Given the description of an element on the screen output the (x, y) to click on. 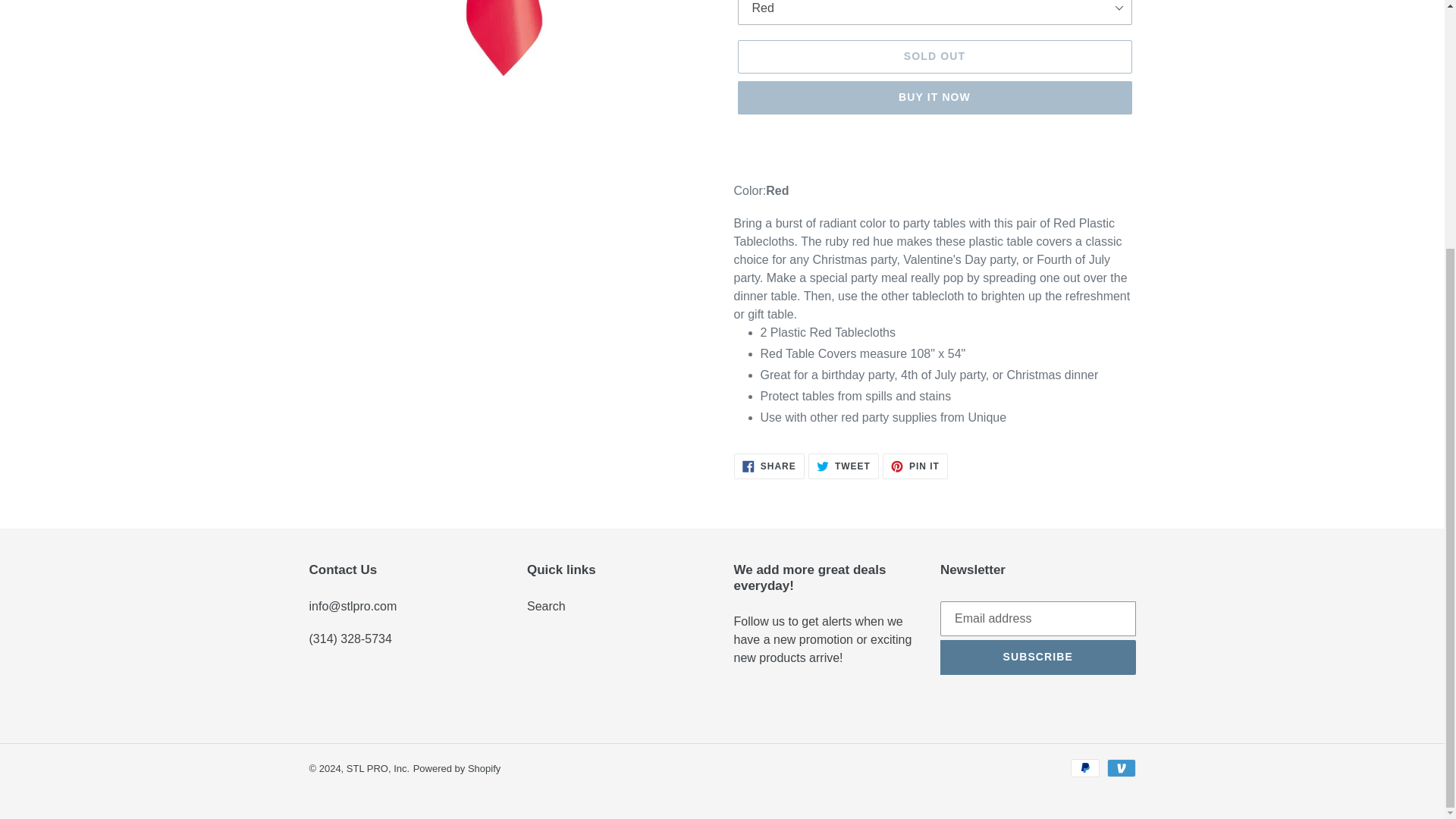
Powered by Shopify (456, 767)
STL PRO, Inc. (769, 466)
BUY IT NOW (377, 767)
Search (843, 466)
SUBSCRIBE (933, 97)
SOLD OUT (546, 605)
